Given the description of an element on the screen output the (x, y) to click on. 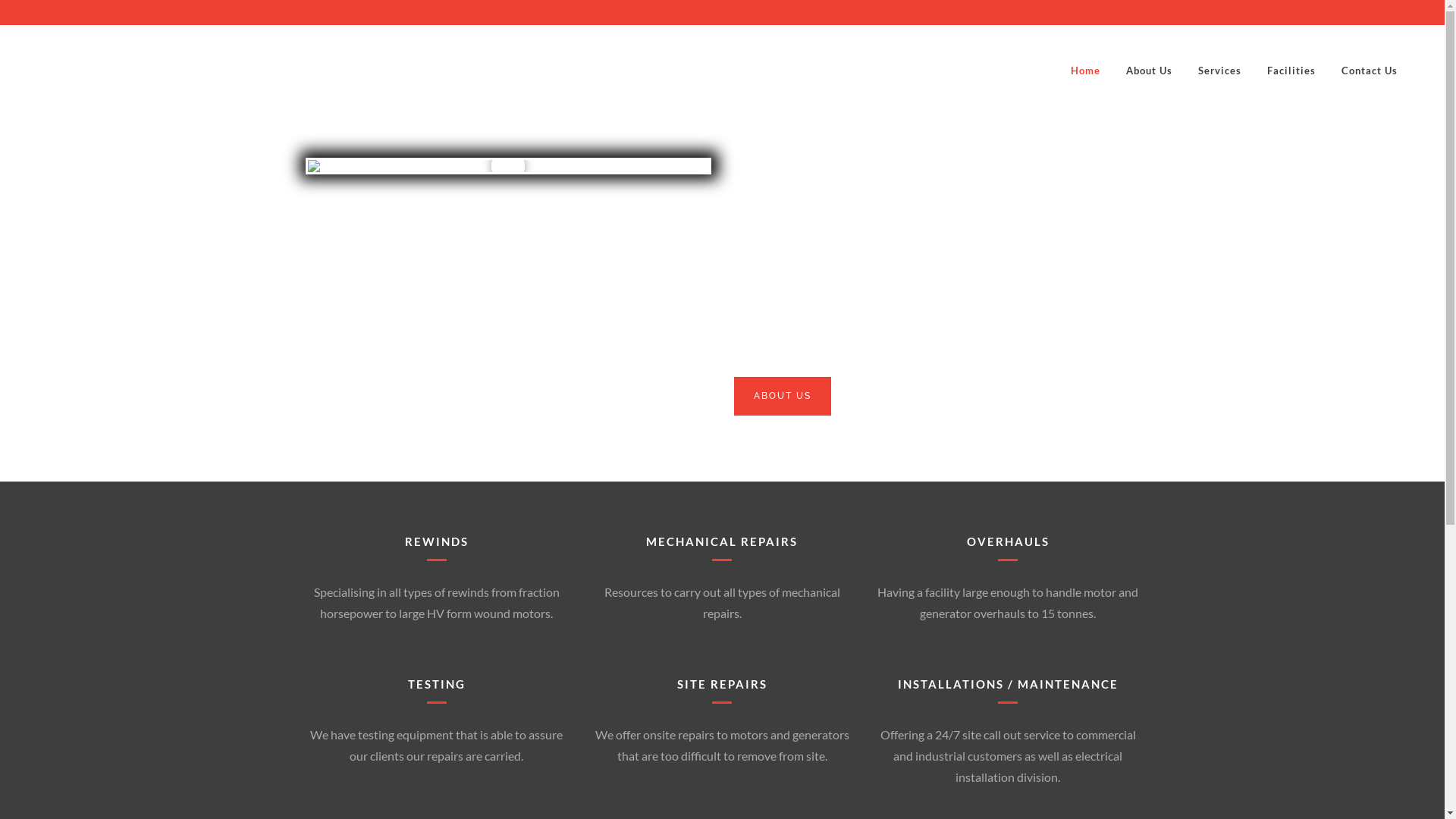
Home Element type: text (1085, 70)
ABOUT US Element type: text (782, 395)
Services Element type: text (1219, 70)
Facilities Element type: text (1291, 70)
Contact Us Element type: text (1369, 70)
About Us Element type: text (1149, 70)
